Given the description of an element on the screen output the (x, y) to click on. 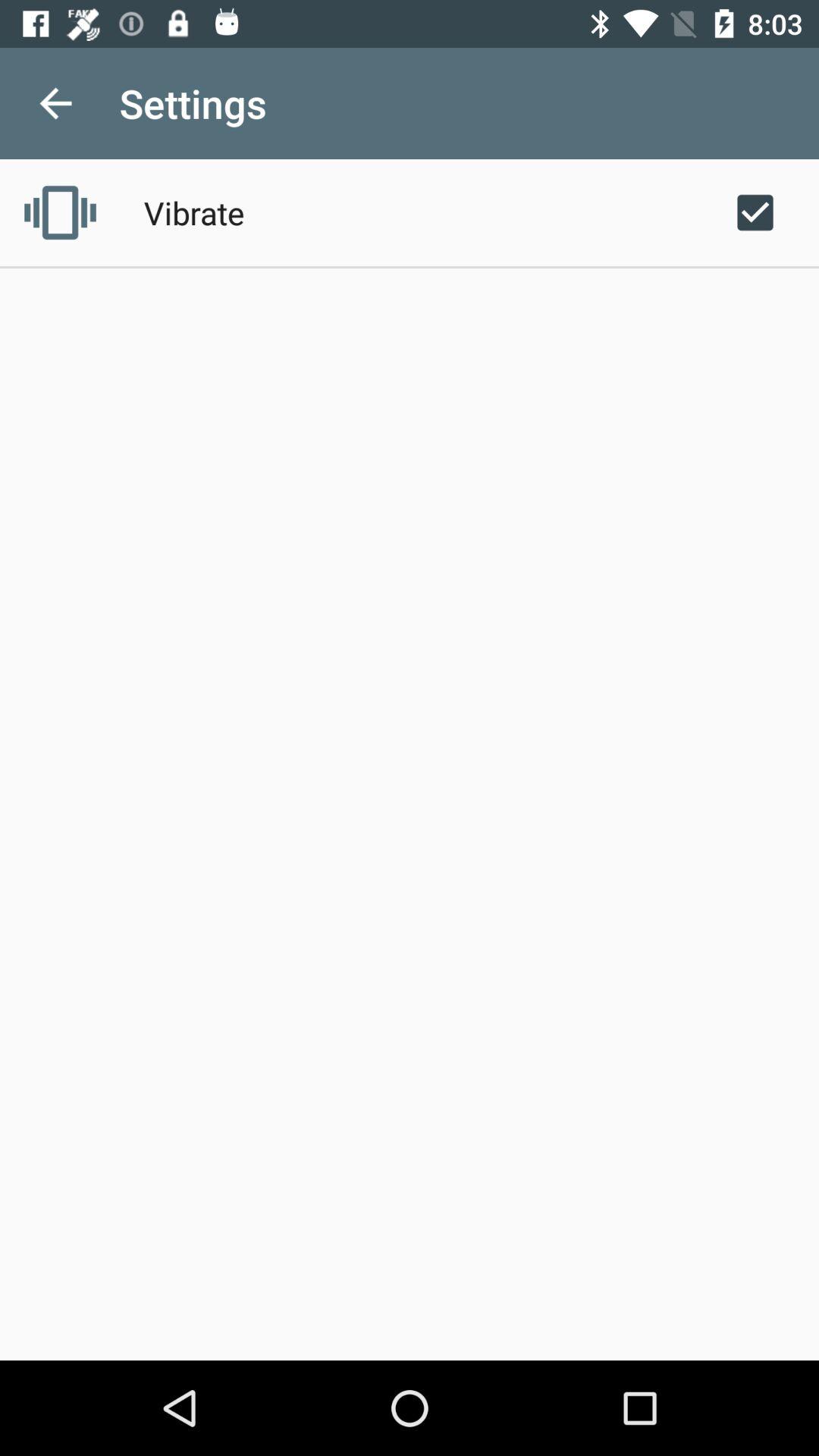
select icon next to the vibrate (60, 212)
